Given the description of an element on the screen output the (x, y) to click on. 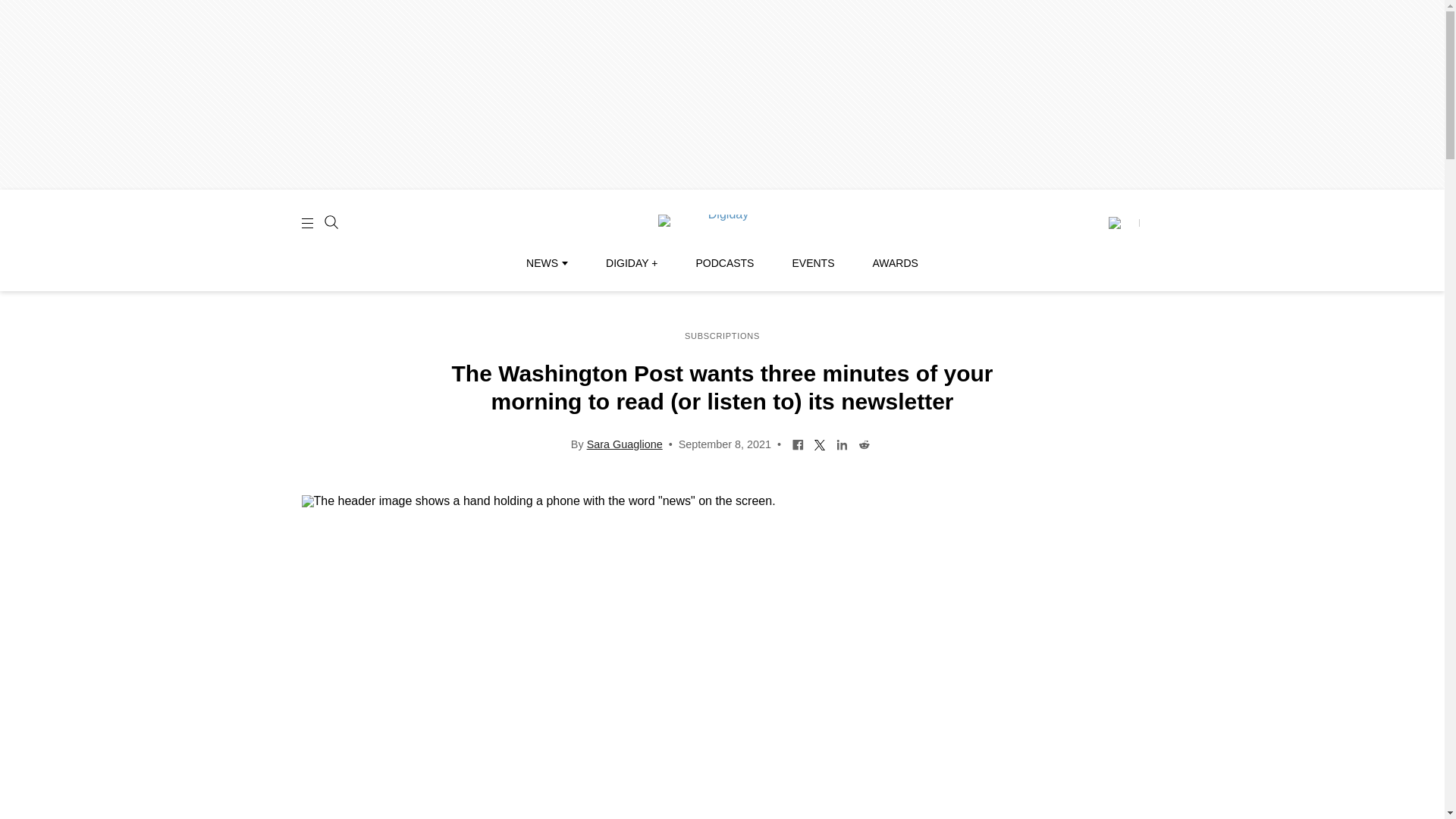
AWARDS (894, 262)
EVENTS (813, 262)
Subscribe (1123, 223)
Share on Facebook (798, 443)
Share on Reddit (863, 443)
NEWS (546, 262)
Share on Twitter (820, 443)
Share on LinkedIn (841, 443)
PODCASTS (725, 262)
